Given the description of an element on the screen output the (x, y) to click on. 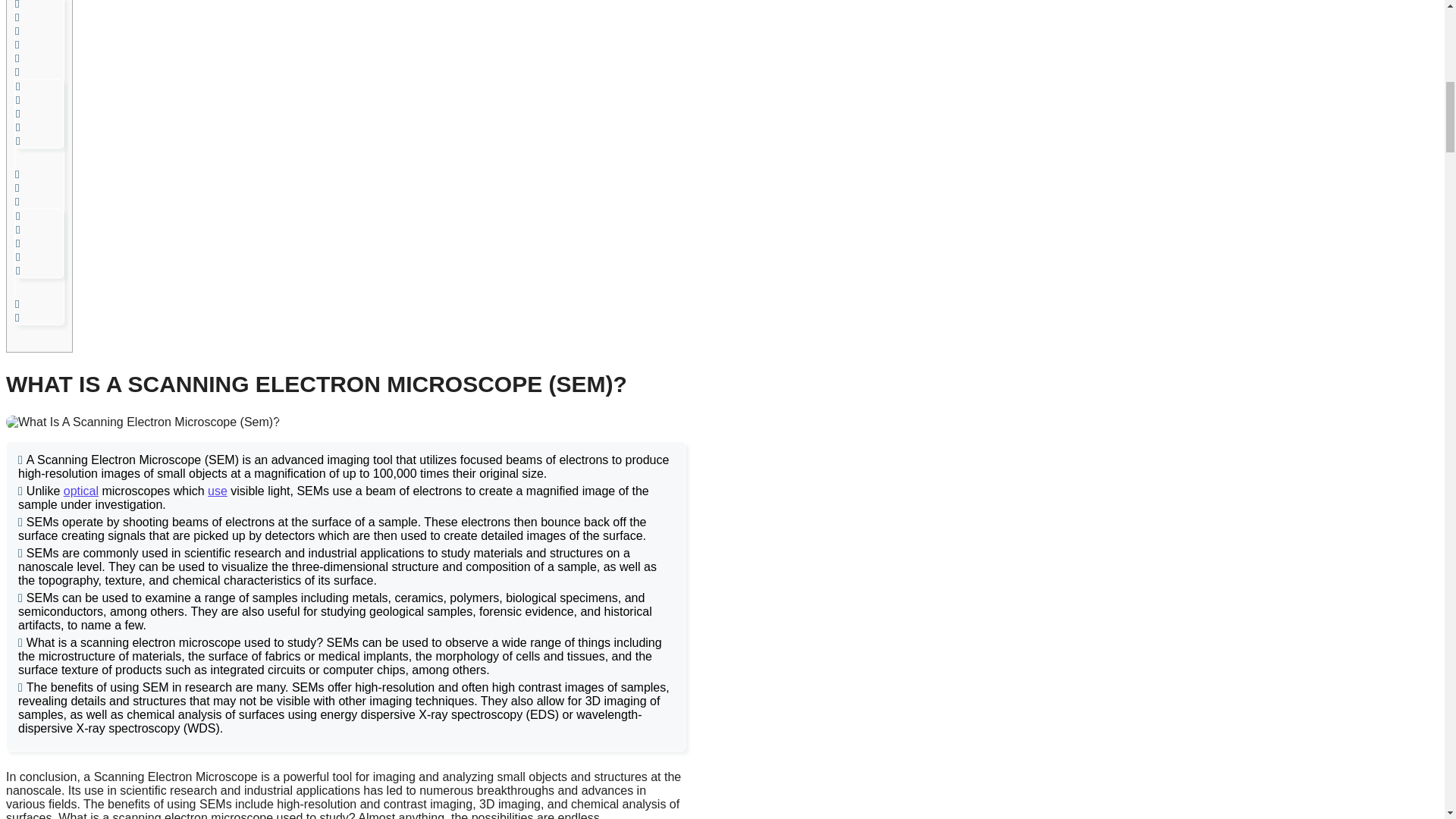
optical (81, 490)
use (217, 490)
